Given the description of an element on the screen output the (x, y) to click on. 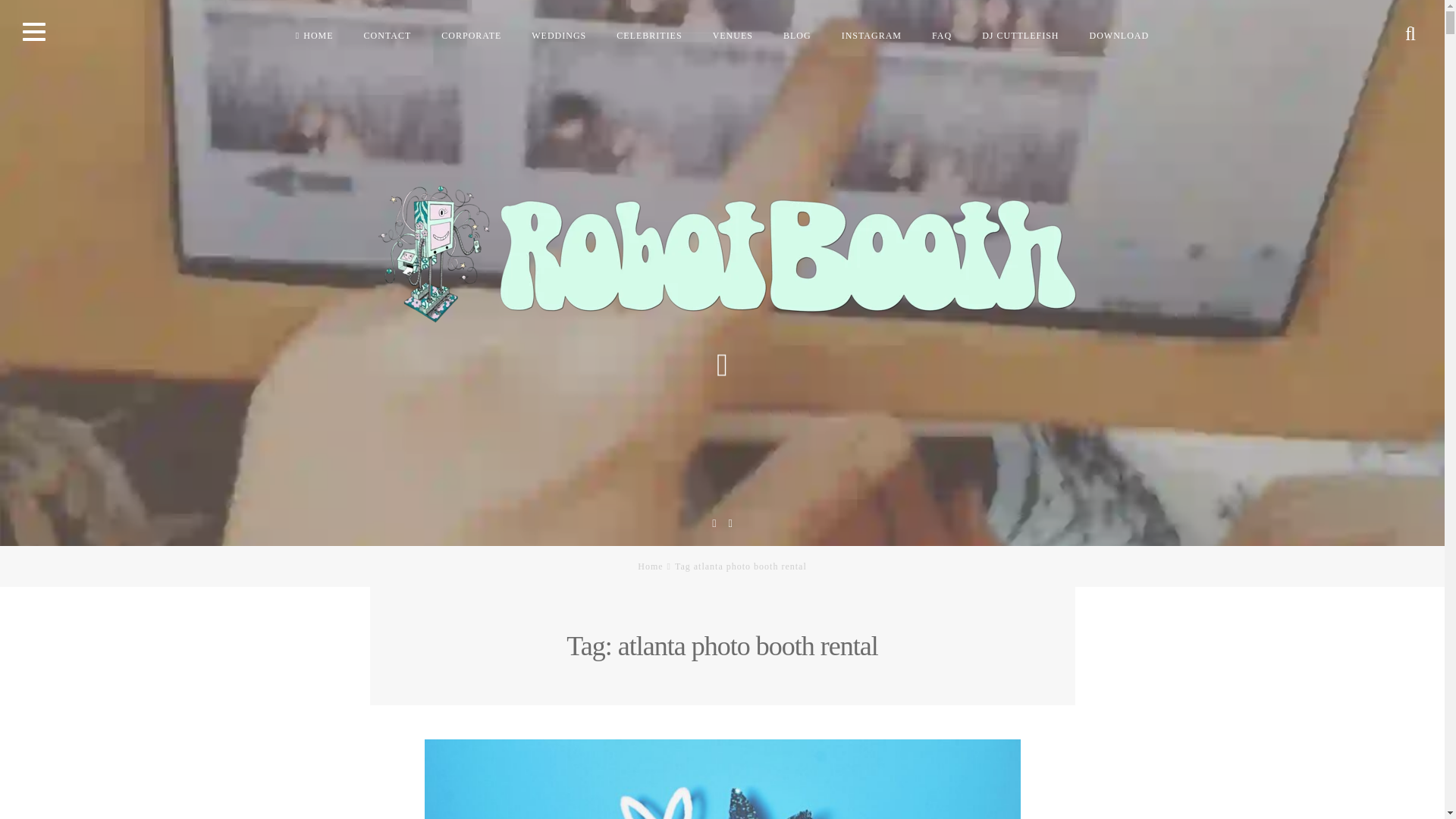
VENUES (732, 34)
HOME (314, 34)
DJ CUTTLEFISH (1019, 34)
INSTAGRAM (871, 34)
BLOG (797, 34)
CORPORATE (471, 34)
CELEBRITIES (648, 34)
WEDDINGS (558, 34)
FAQ (941, 34)
Home (649, 566)
Instagram (730, 522)
DOWNLOAD (1118, 34)
CONTACT (387, 34)
YouTube (714, 522)
